Given the description of an element on the screen output the (x, y) to click on. 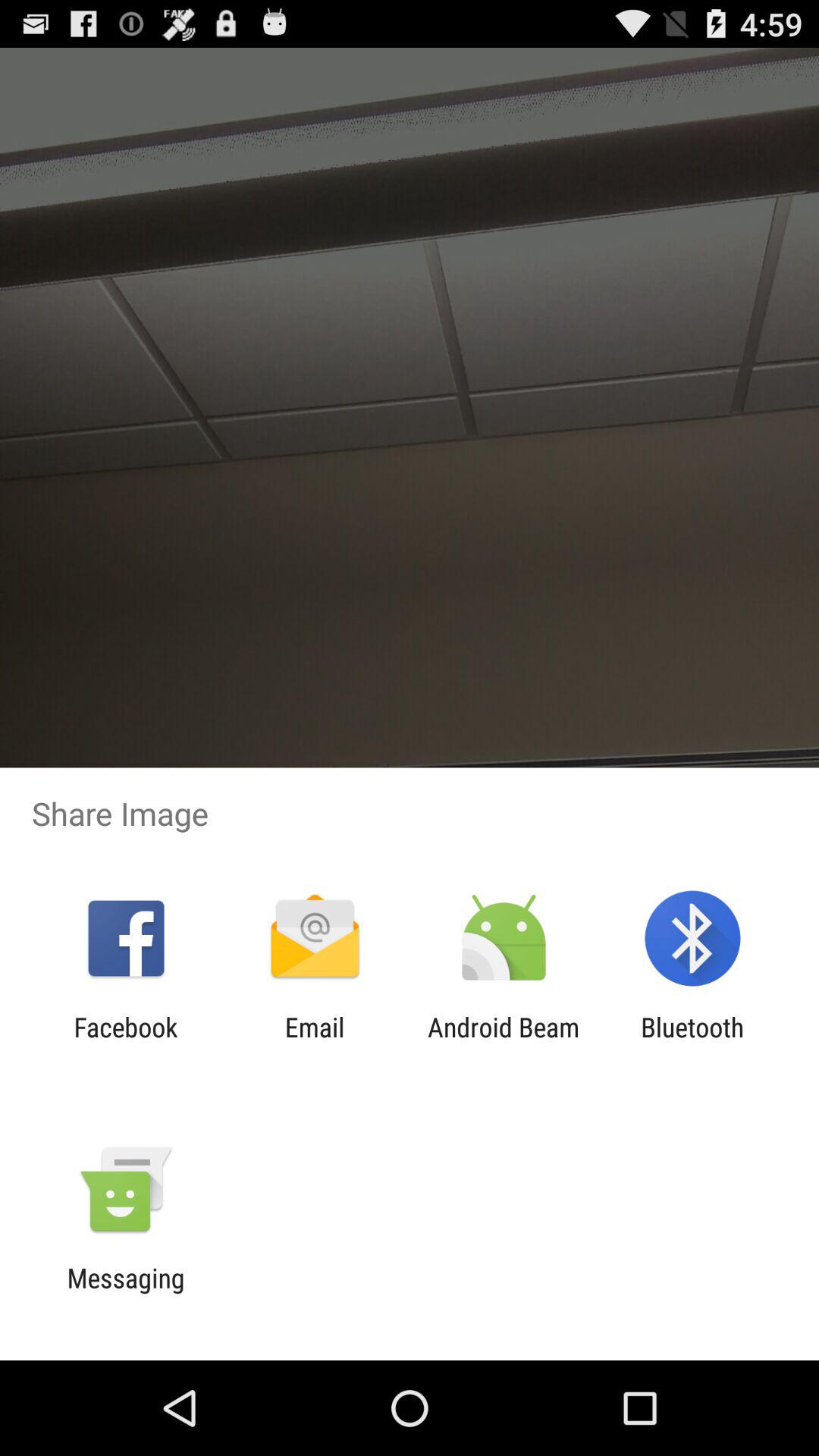
click bluetooth (691, 1042)
